Given the description of an element on the screen output the (x, y) to click on. 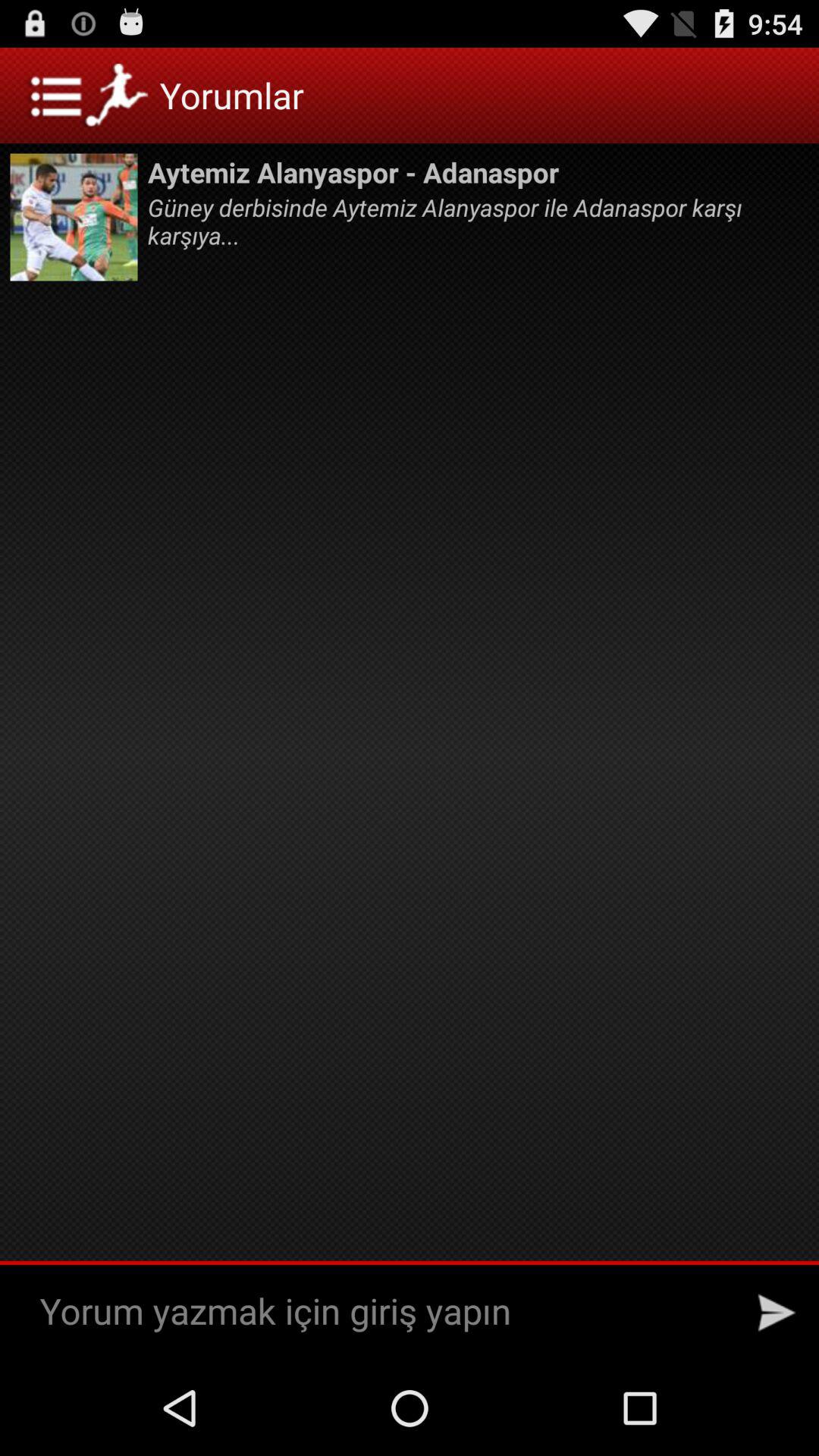
add a comment (382, 1312)
